Given the description of an element on the screen output the (x, y) to click on. 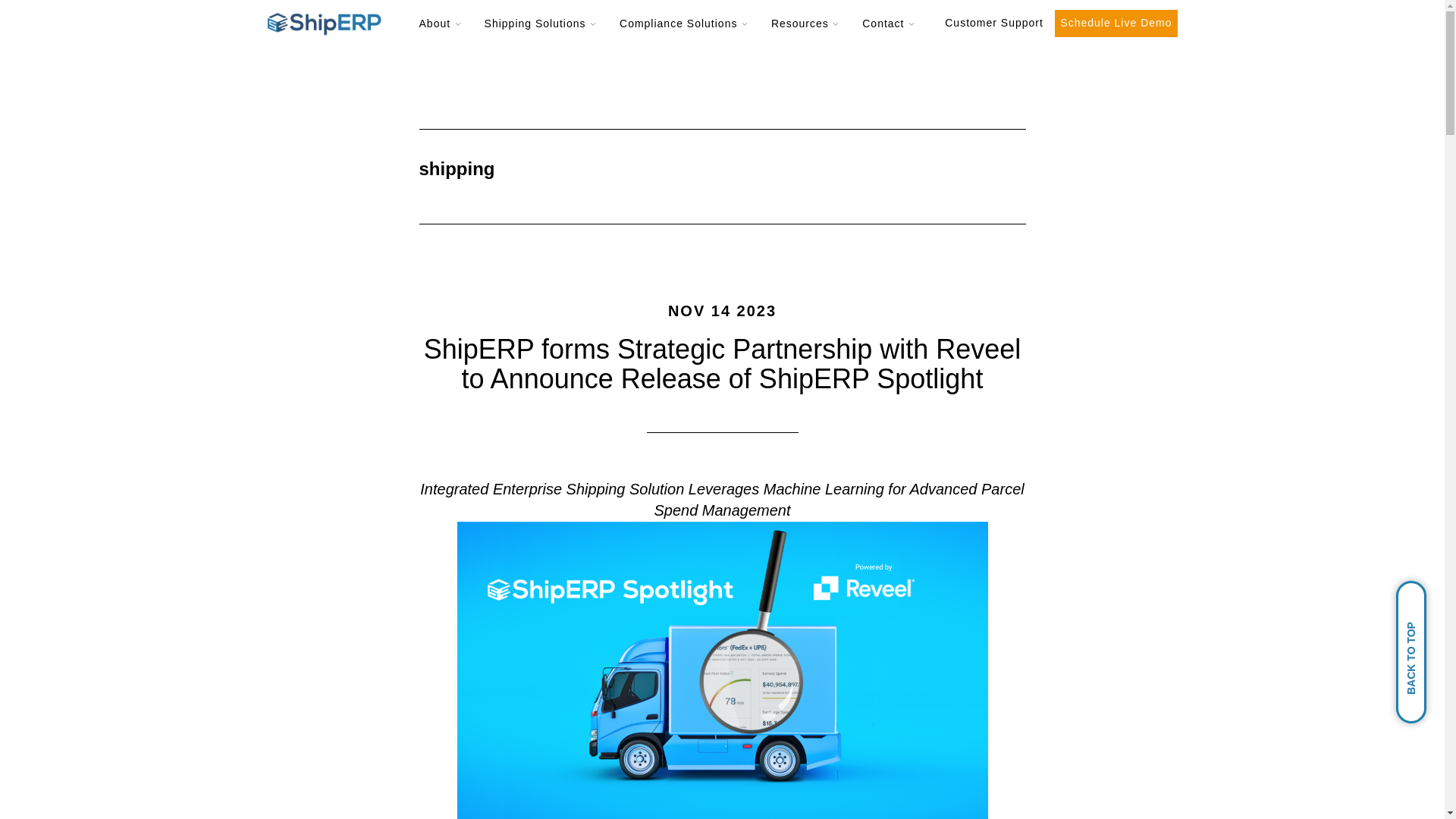
Shipping Solutions (542, 29)
Resources (806, 29)
SHIPERP: MULTI-CARRIER SHIPPING SOFTWARE (323, 24)
Compliance Solutions (685, 29)
Compliance Solutions (685, 29)
Contact (890, 29)
About (443, 29)
